Given the description of an element on the screen output the (x, y) to click on. 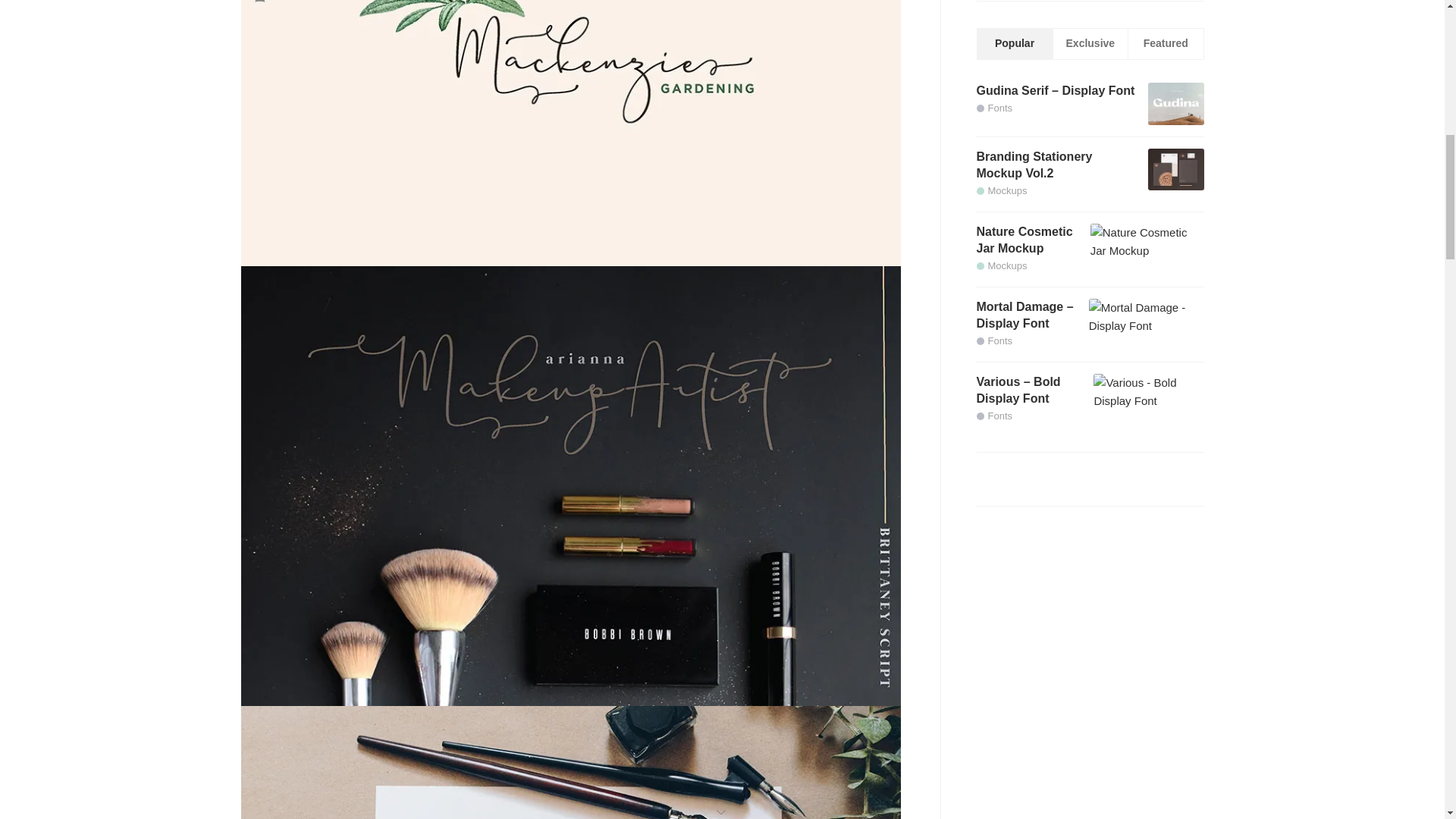
Mockups (1001, 190)
Fonts (994, 107)
Fonts (994, 340)
Mockups (1001, 265)
Fonts (994, 415)
